Given the description of an element on the screen output the (x, y) to click on. 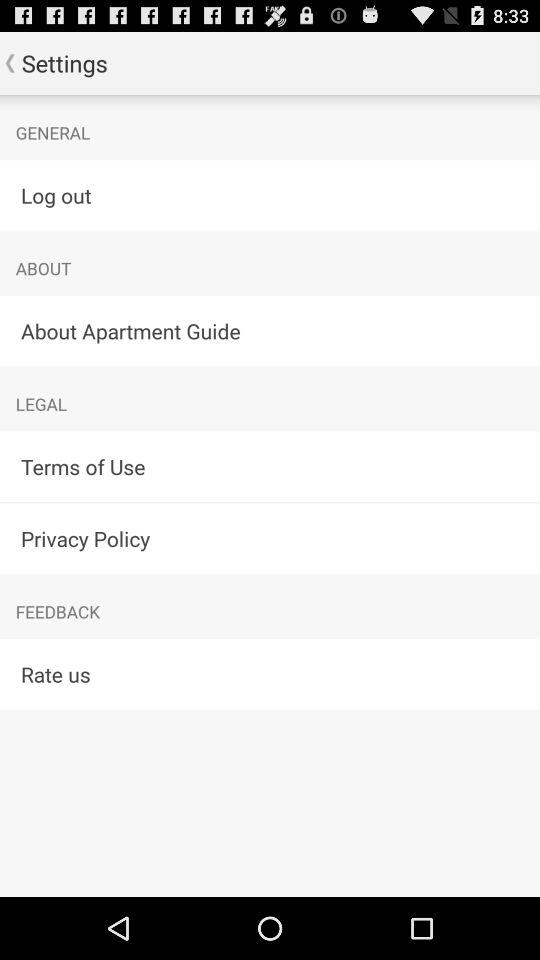
flip to the about apartment guide (270, 330)
